Given the description of an element on the screen output the (x, y) to click on. 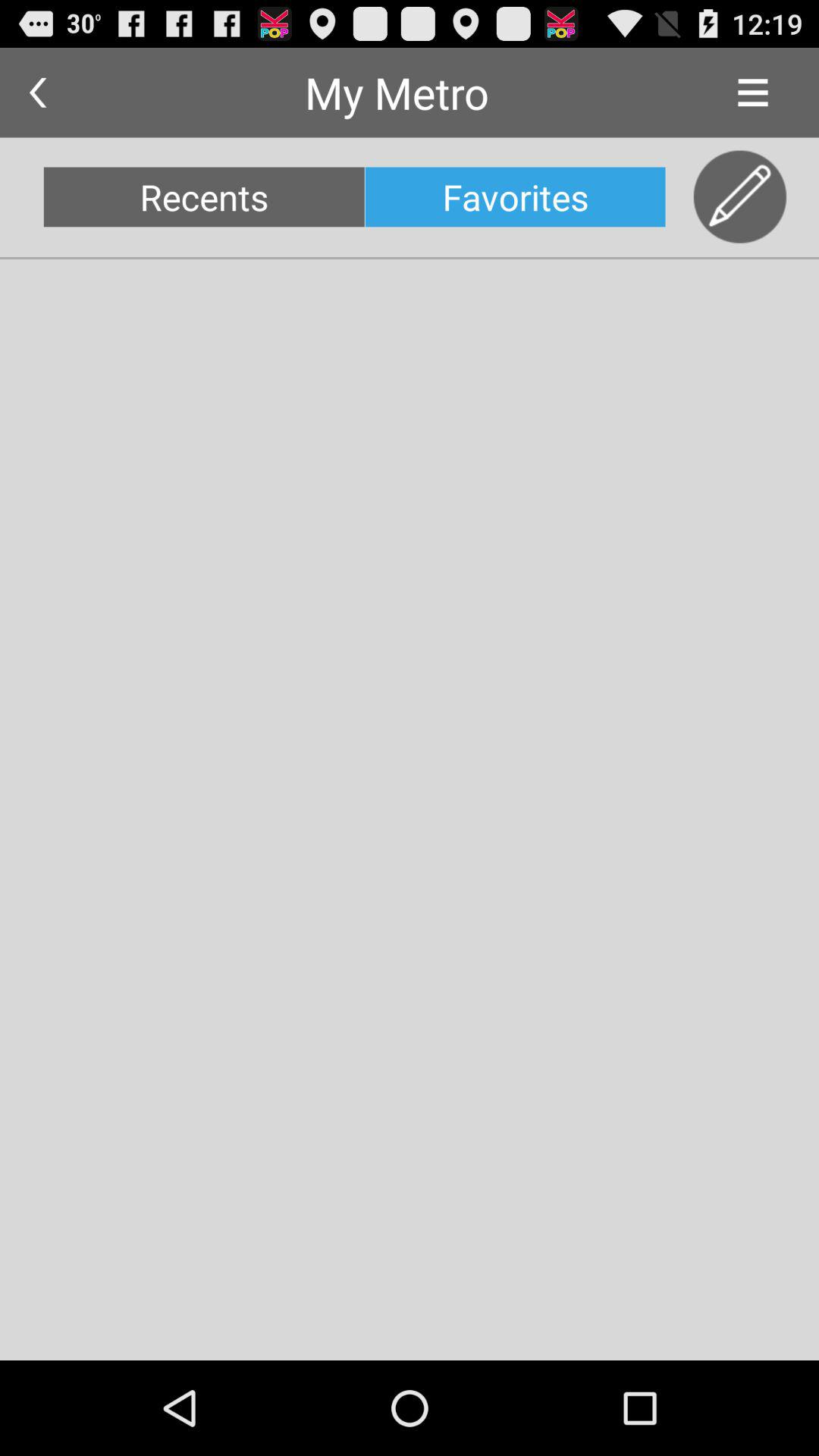
choose app to the left of my metro item (37, 92)
